Given the description of an element on the screen output the (x, y) to click on. 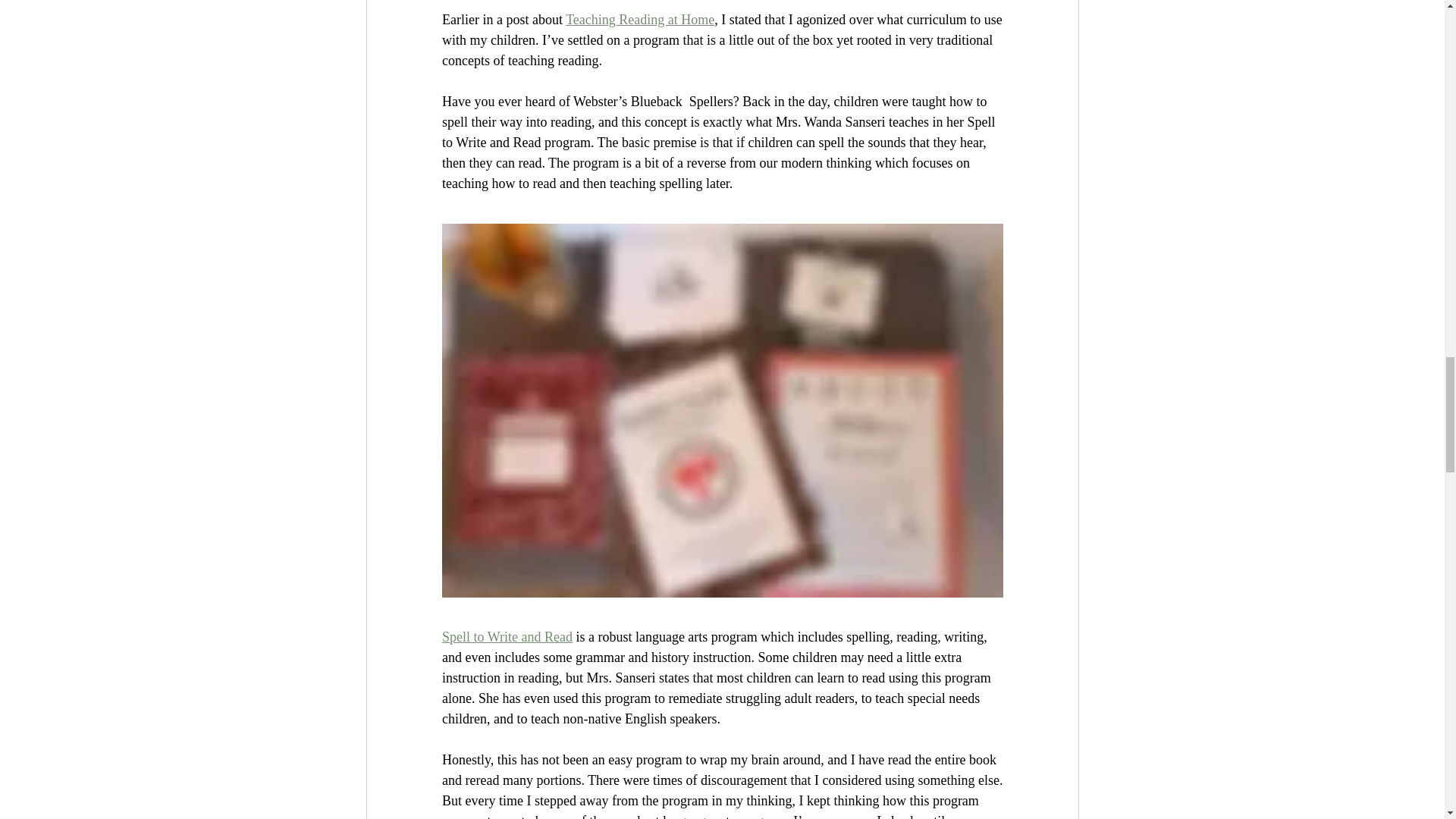
Teaching Reading at Home (640, 19)
Spell to Write and Read (506, 636)
